Given the description of an element on the screen output the (x, y) to click on. 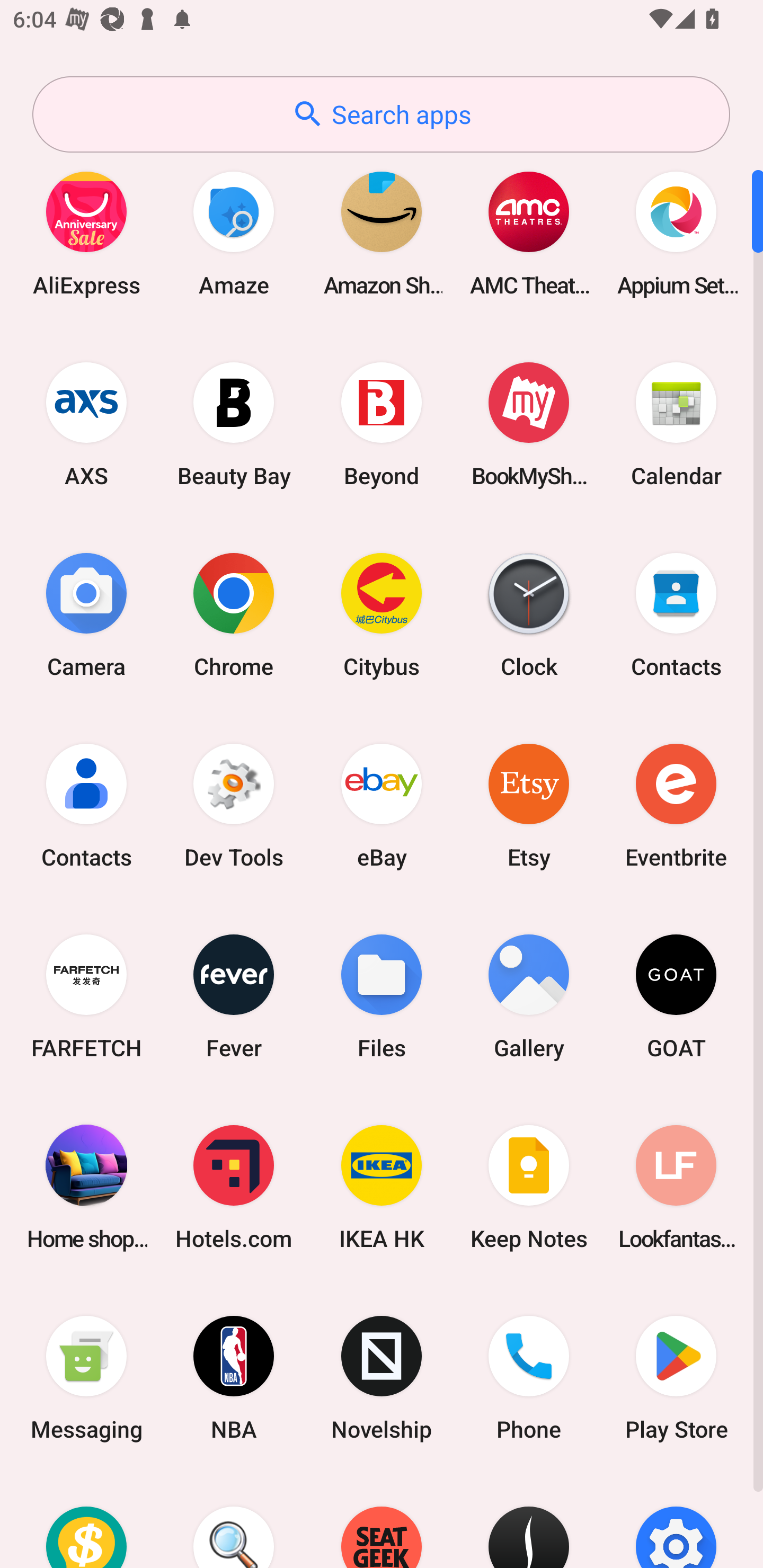
  Search apps (381, 114)
AliExpress (86, 233)
Amaze (233, 233)
Amazon Shopping (381, 233)
AMC Theatres (528, 233)
Appium Settings (676, 233)
AXS (86, 424)
Beauty Bay (233, 424)
Beyond (381, 424)
BookMyShow (528, 424)
Calendar (676, 424)
Camera (86, 614)
Chrome (233, 614)
Citybus (381, 614)
Clock (528, 614)
Contacts (676, 614)
Contacts (86, 805)
Dev Tools (233, 805)
eBay (381, 805)
Etsy (528, 805)
Eventbrite (676, 805)
FARFETCH (86, 996)
Fever (233, 996)
Files (381, 996)
Gallery (528, 996)
GOAT (676, 996)
Home shopping (86, 1186)
Hotels.com (233, 1186)
IKEA HK (381, 1186)
Keep Notes (528, 1186)
Lookfantastic (676, 1186)
Messaging (86, 1377)
NBA (233, 1377)
Novelship (381, 1377)
Phone (528, 1377)
Play Store (676, 1377)
